Given the description of an element on the screen output the (x, y) to click on. 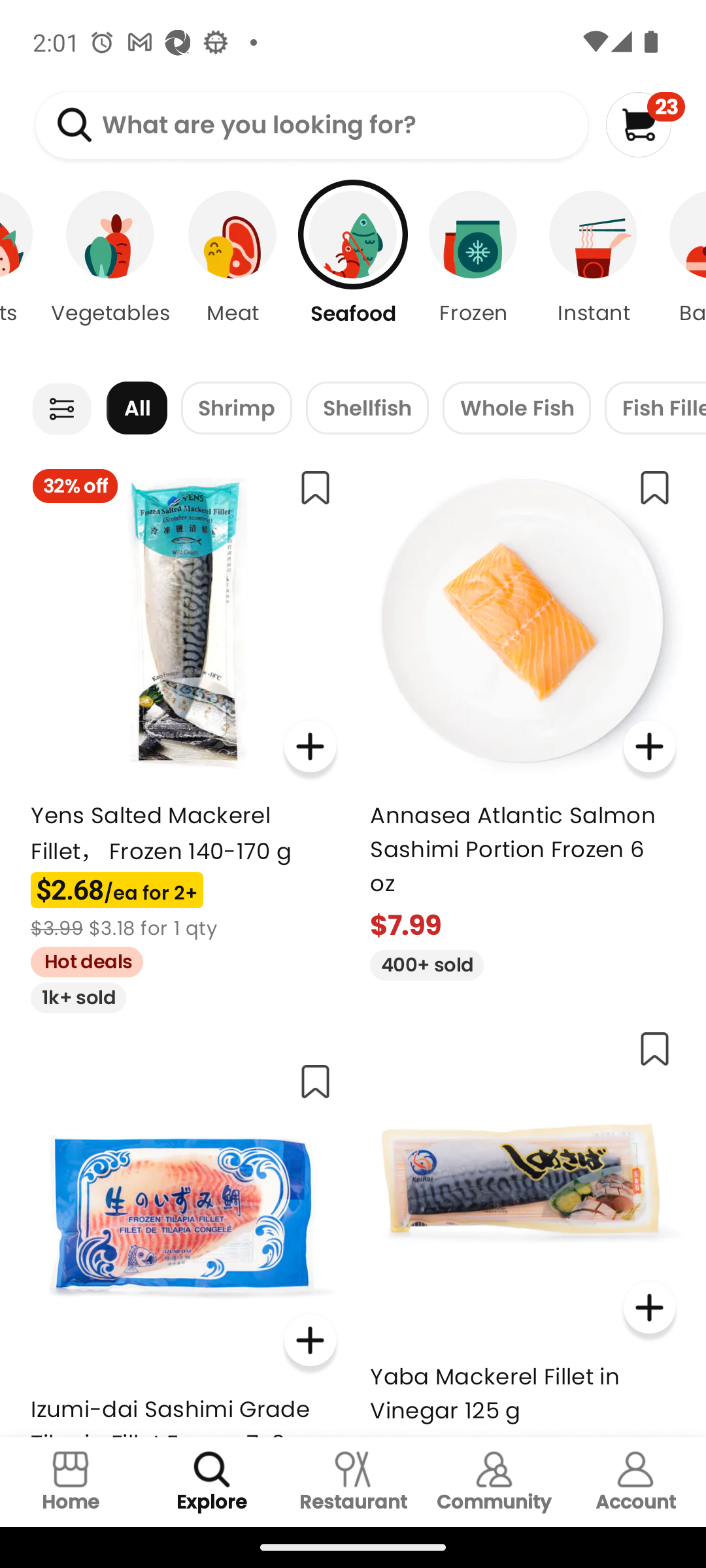
What are you looking for? (311, 124)
23 (644, 124)
Vegetables (110, 274)
Meat (232, 274)
Seafood (352, 274)
Frozen (473, 274)
Instant (593, 274)
All (136, 407)
Shrimp (236, 407)
Shellfish (366, 407)
Whole Fish (516, 407)
Fish Fillets & Steaks (655, 407)
Hot deals (79, 958)
Yaba Mackerel Fillet in Vinegar 125 g $3.99 (522, 1225)
Home (70, 1482)
Explore (211, 1482)
Restaurant (352, 1482)
Community (493, 1482)
Account (635, 1482)
